Given the description of an element on the screen output the (x, y) to click on. 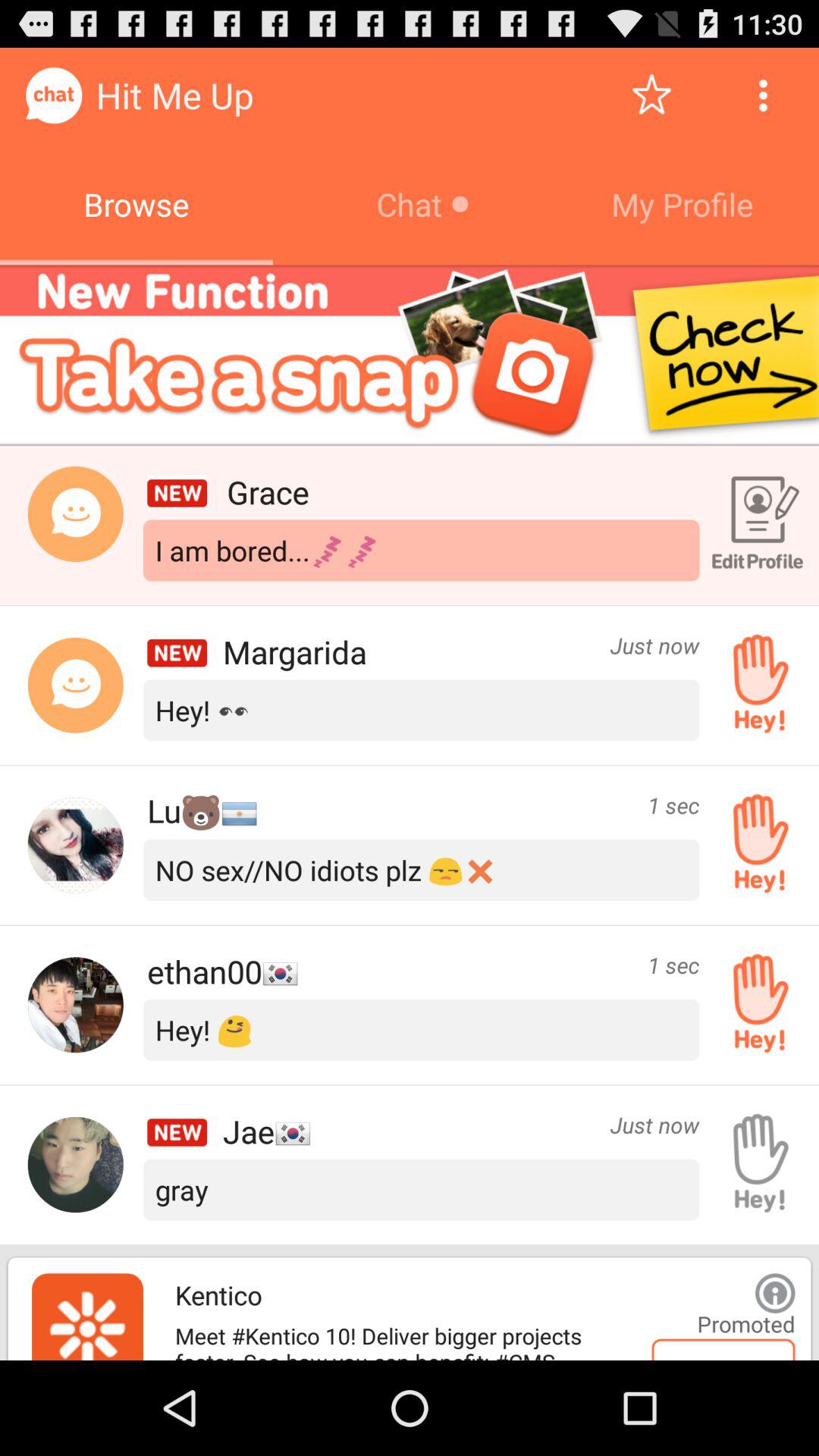
send invitation (755, 1004)
